Given the description of an element on the screen output the (x, y) to click on. 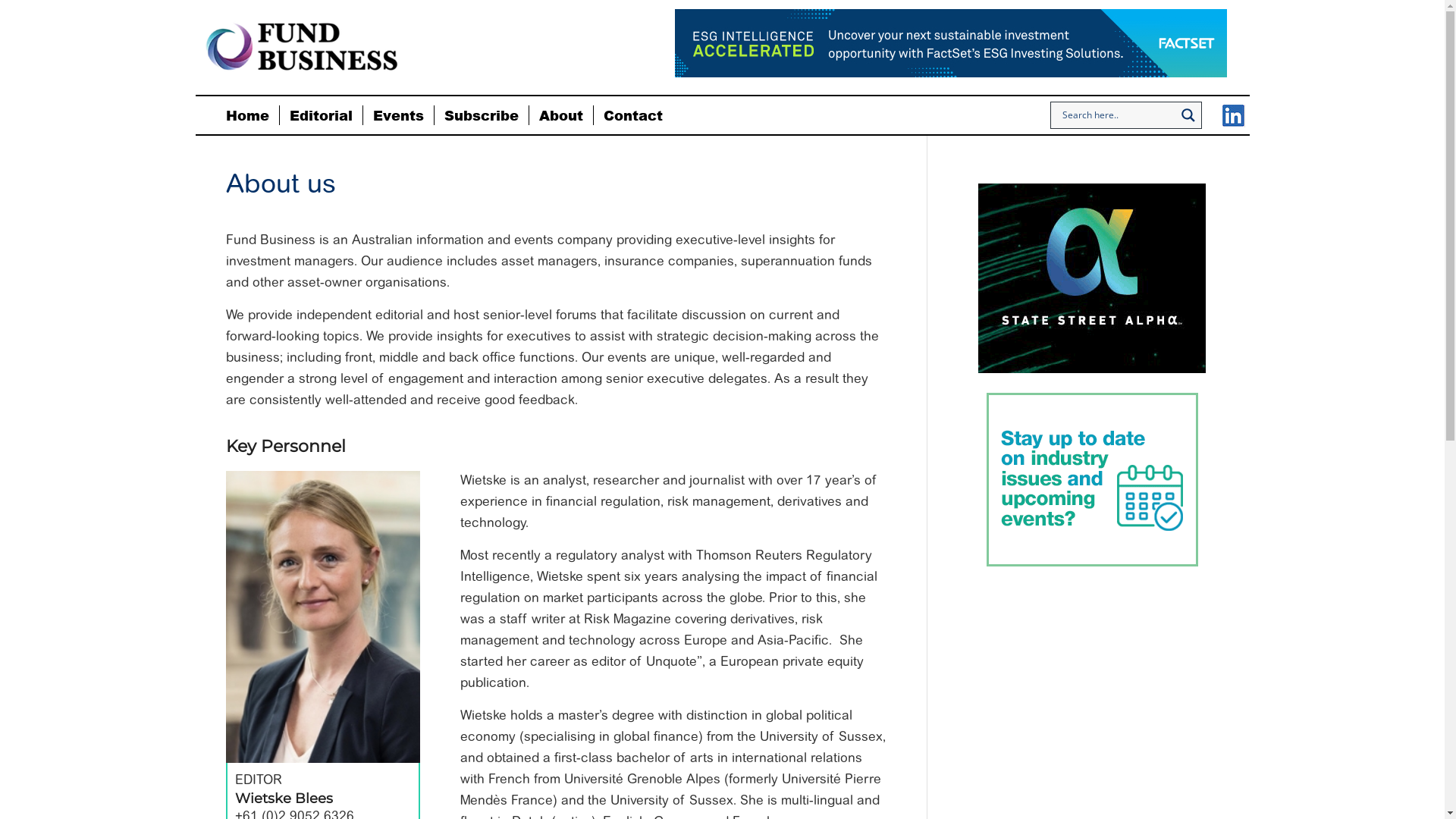
Contact Element type: text (632, 115)
Editorial Element type: text (320, 115)
About Element type: text (560, 115)
Subscribe Element type: text (480, 115)
Events Element type: text (397, 115)
LinkedIn Element type: hover (1233, 115)
Home Element type: text (247, 115)
fund-business-logo Element type: hover (301, 47)
